Given the description of an element on the screen output the (x, y) to click on. 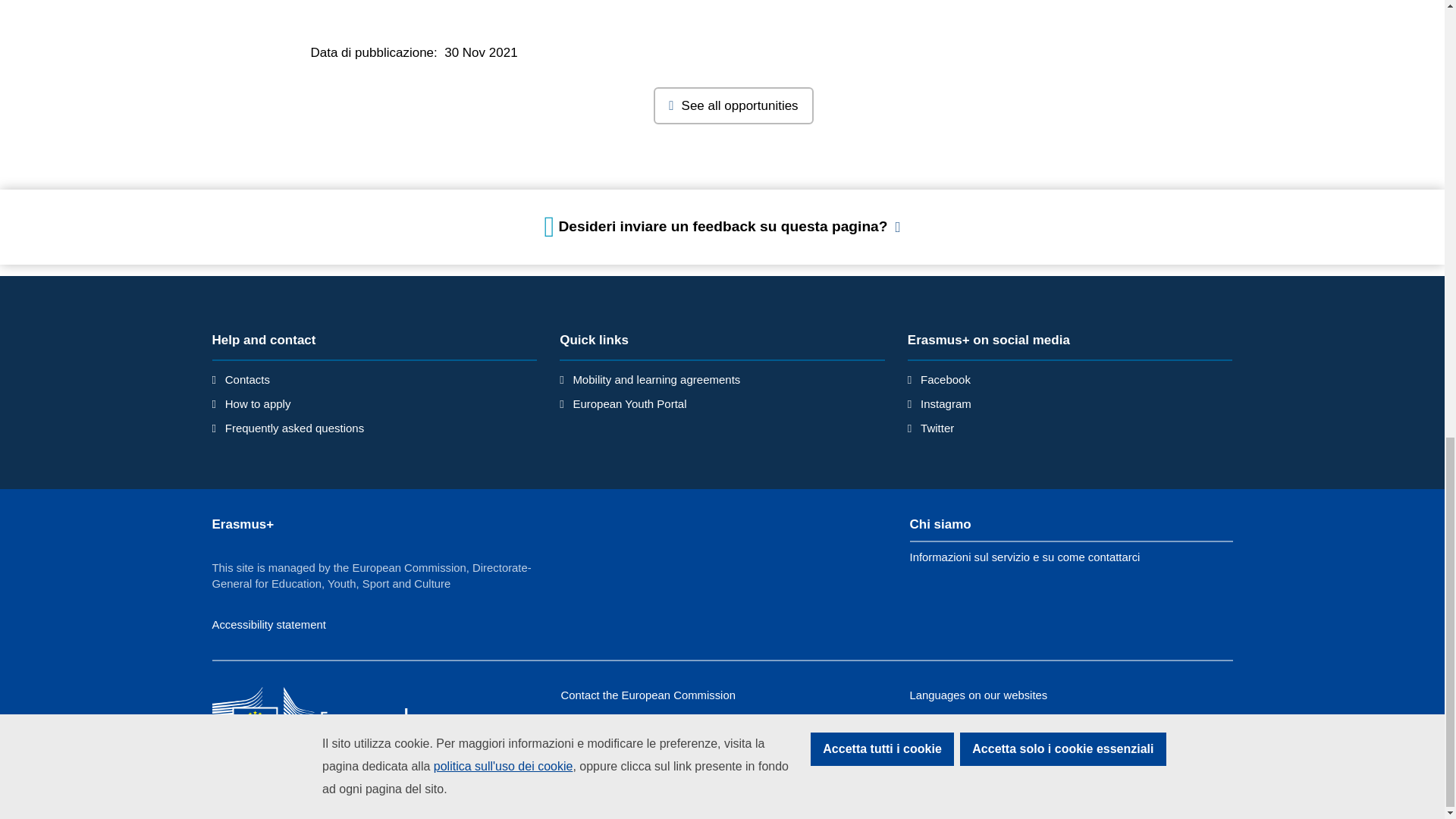
Twitter (936, 427)
Frequently asked questions (294, 427)
European Commission (322, 714)
Instagram (945, 403)
Desideri inviare un feedback su questa pagina? (722, 226)
Facebook (945, 379)
Mobility and learning agreements (655, 379)
How to apply (258, 403)
Contacts (247, 379)
See all opportunities (732, 105)
European Youth Portal (628, 403)
